Given the description of an element on the screen output the (x, y) to click on. 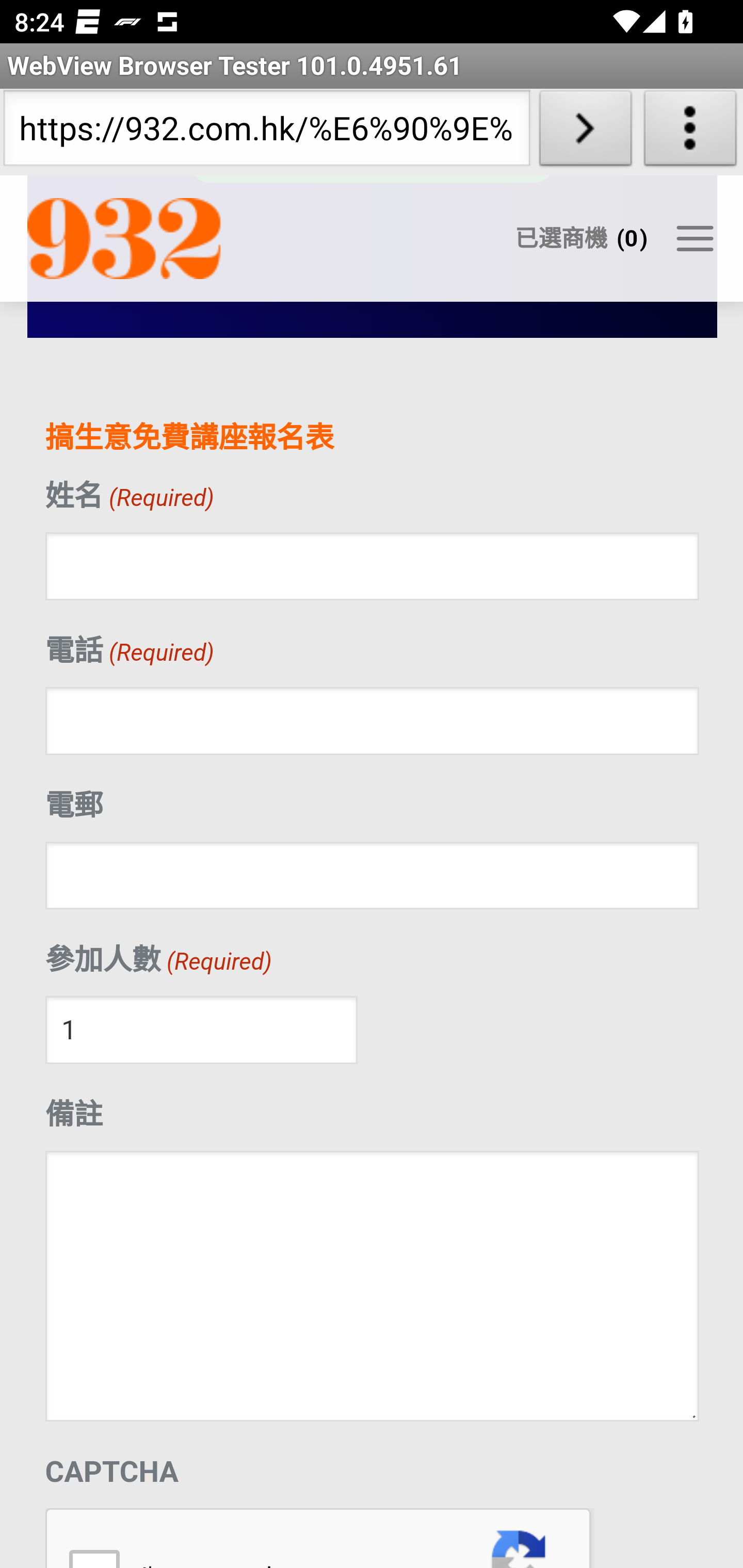
Load URL (585, 132)
About WebView (690, 132)
1, 參加人數(Required) (200, 1032)
